Given the description of an element on the screen output the (x, y) to click on. 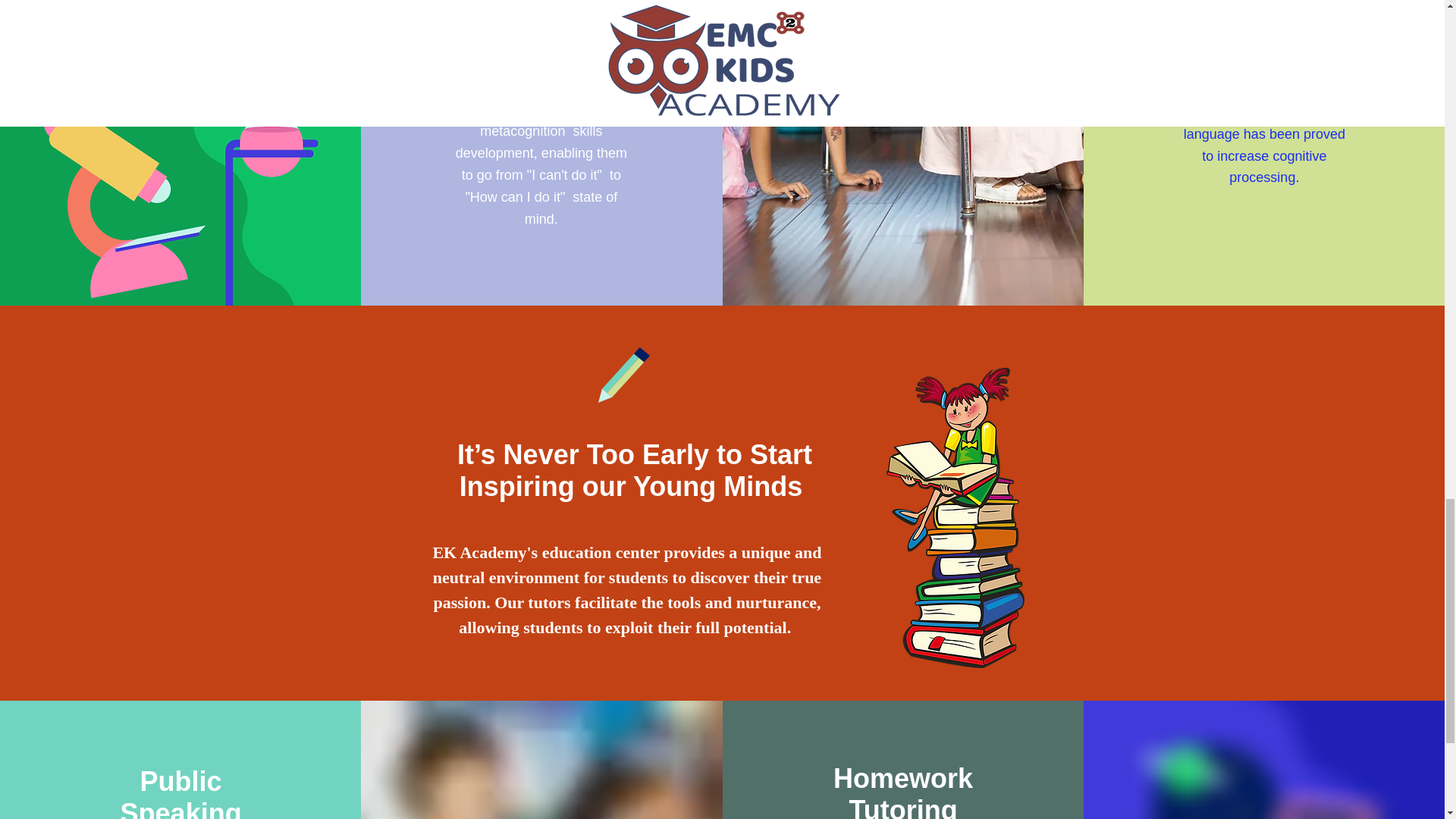
Public Speaking (180, 792)
Metacognition Development  (541, 14)
Language Arts (1263, 22)
Homework Tutoring (902, 790)
